Given the description of an element on the screen output the (x, y) to click on. 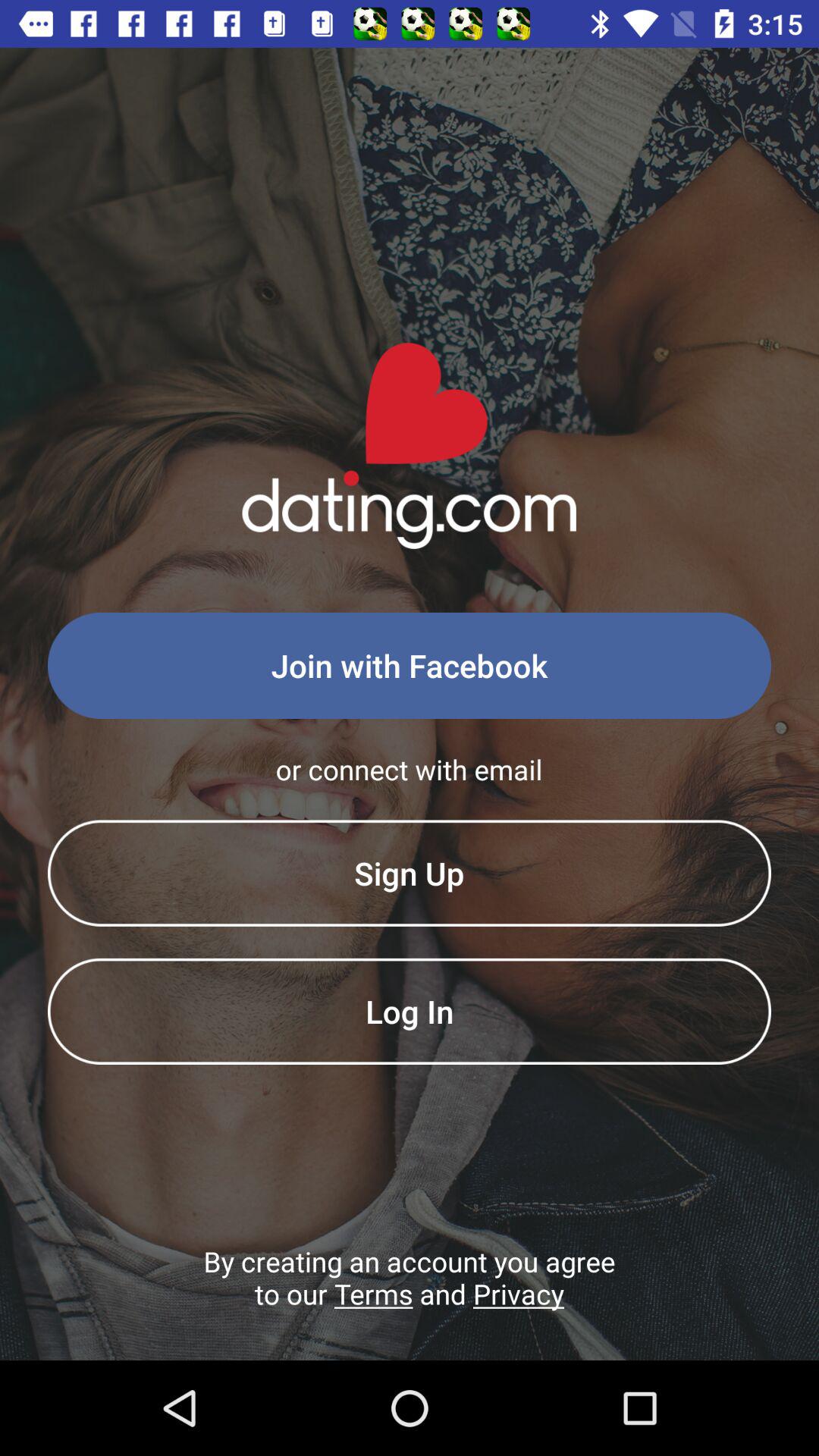
launch the icon above the log in icon (409, 873)
